Given the description of an element on the screen output the (x, y) to click on. 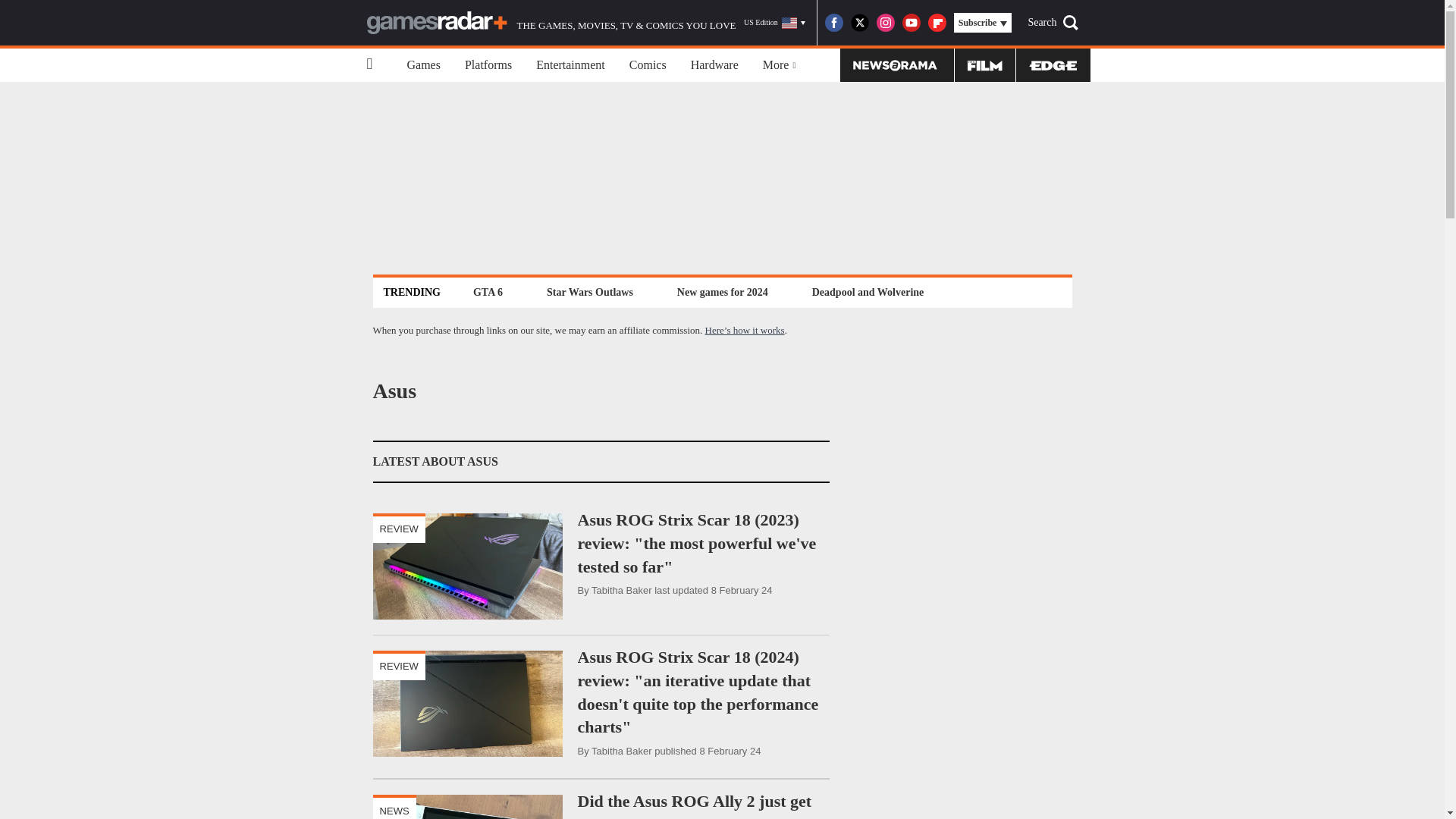
GTA 6 (487, 292)
US Edition (774, 22)
Platforms (488, 64)
Entertainment (570, 64)
Deadpool and Wolverine (868, 292)
Star Wars Outlaws (590, 292)
Comics (647, 64)
New games for 2024 (722, 292)
Hardware (714, 64)
Games (422, 64)
